Given the description of an element on the screen output the (x, y) to click on. 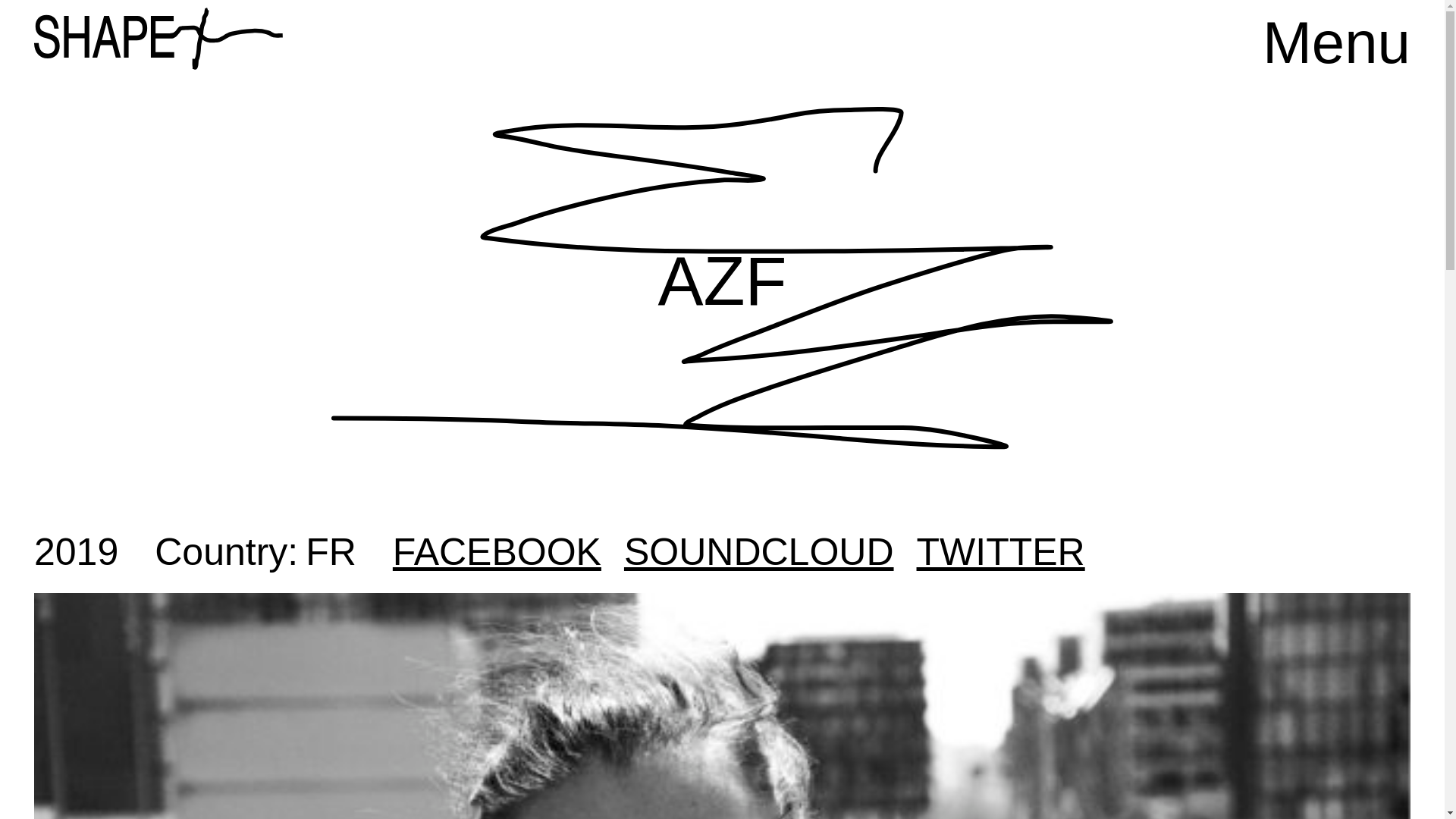
SOUNDCLOUD (758, 551)
FACEBOOK (497, 551)
TWITTER (1000, 551)
